Given the description of an element on the screen output the (x, y) to click on. 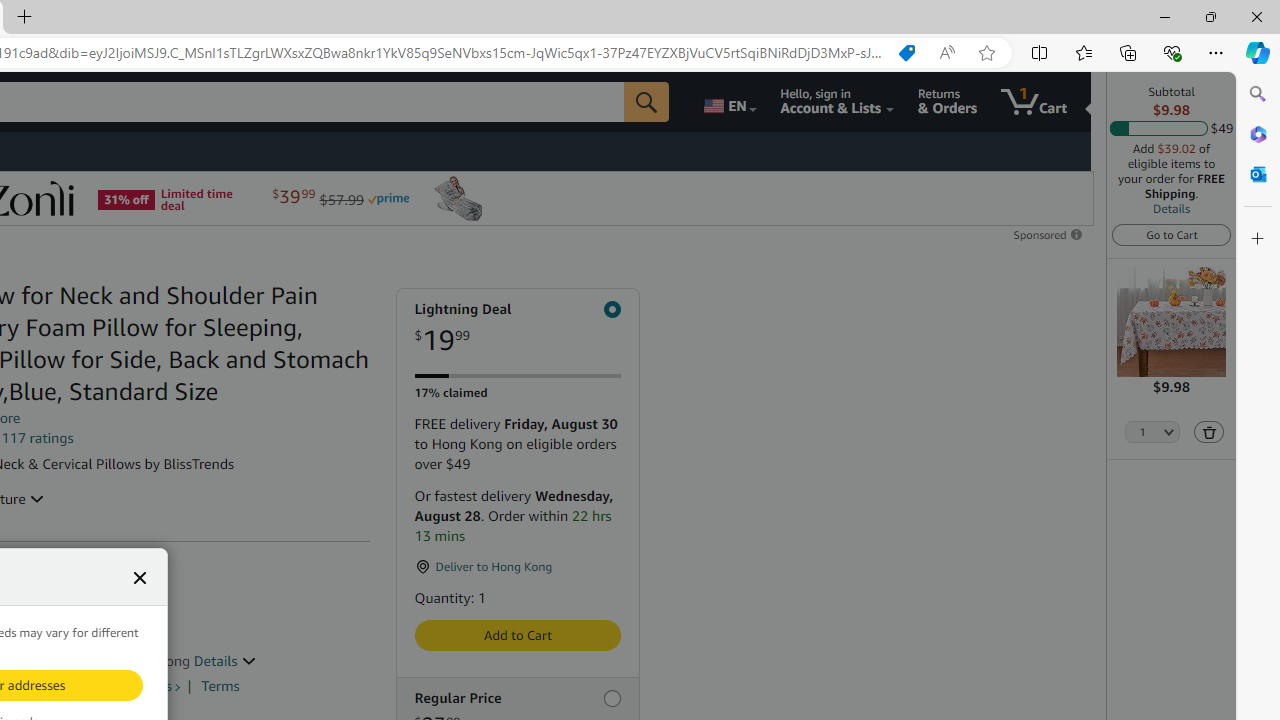
Shop items (138, 686)
Quantity Selector (1153, 433)
Terms (219, 686)
Details  (225, 660)
You have the best price! (906, 53)
Hello, sign in Account & Lists (836, 101)
Go (646, 101)
Details (1171, 208)
